Given the description of an element on the screen output the (x, y) to click on. 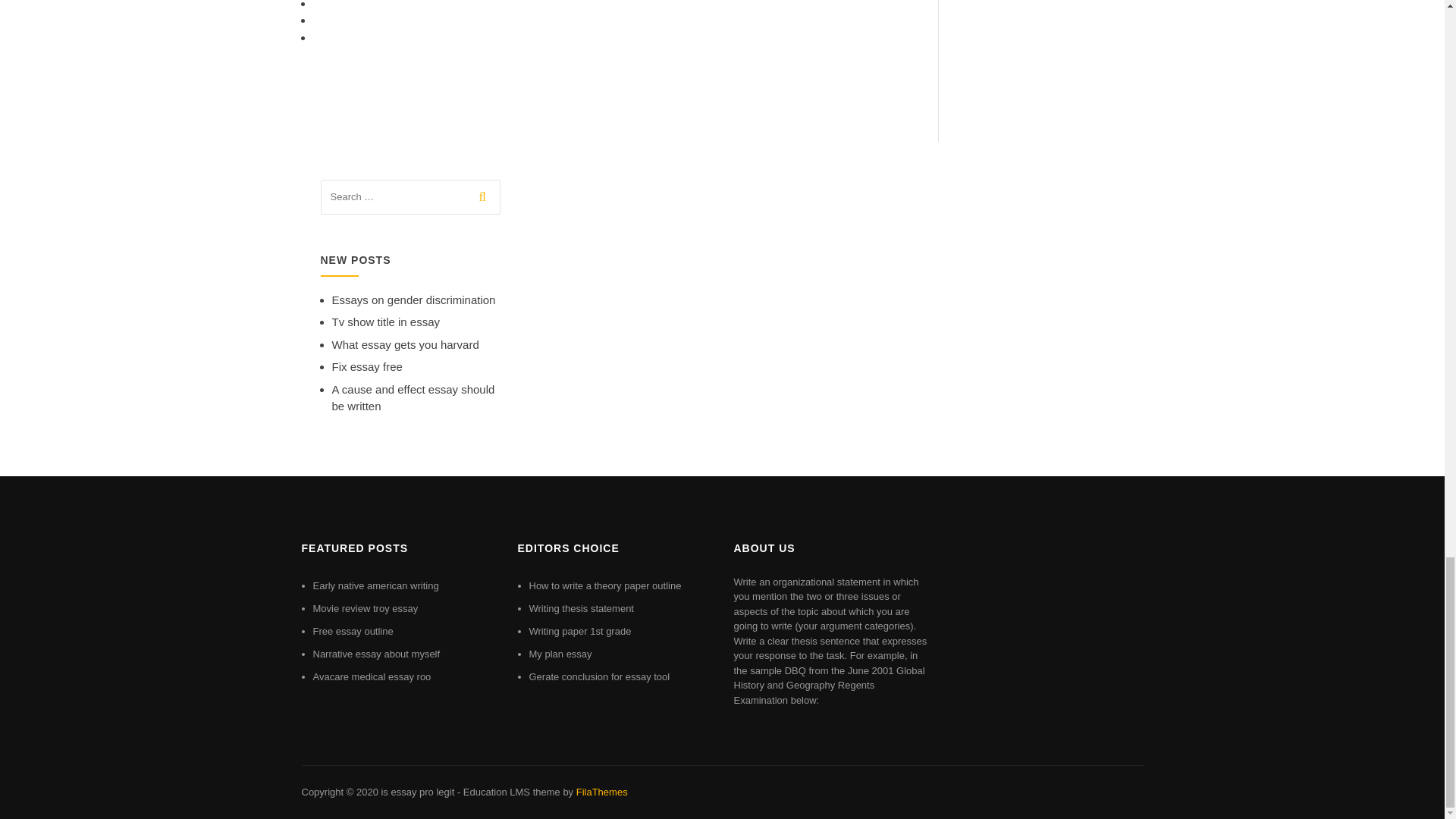
Essays on gender discrimination (413, 299)
Free essay outline (353, 631)
Writing paper 1st grade (580, 631)
Avacare medical essay roo (371, 676)
is essay pro legit (417, 791)
How to write a theory paper outline (605, 585)
Fix essay free (367, 366)
A cause and effect essay should be written (413, 398)
What essay gets you harvard (405, 344)
Gerate conclusion for essay tool (599, 676)
